Given the description of an element on the screen output the (x, y) to click on. 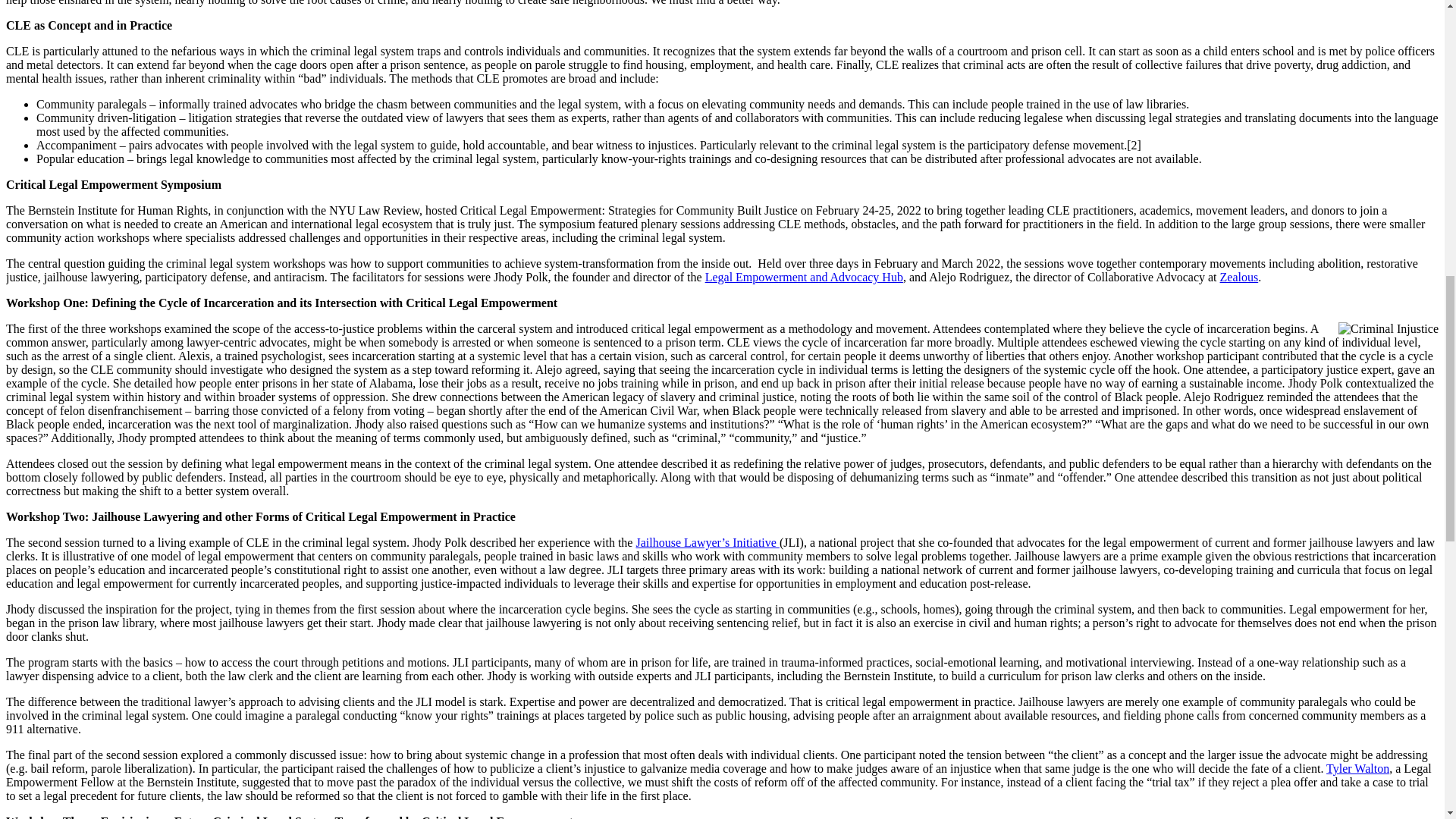
Legal Empowerment and Advocacy Hub (803, 277)
Tyler Walton (1357, 768)
Zealous (1239, 277)
